Given the description of an element on the screen output the (x, y) to click on. 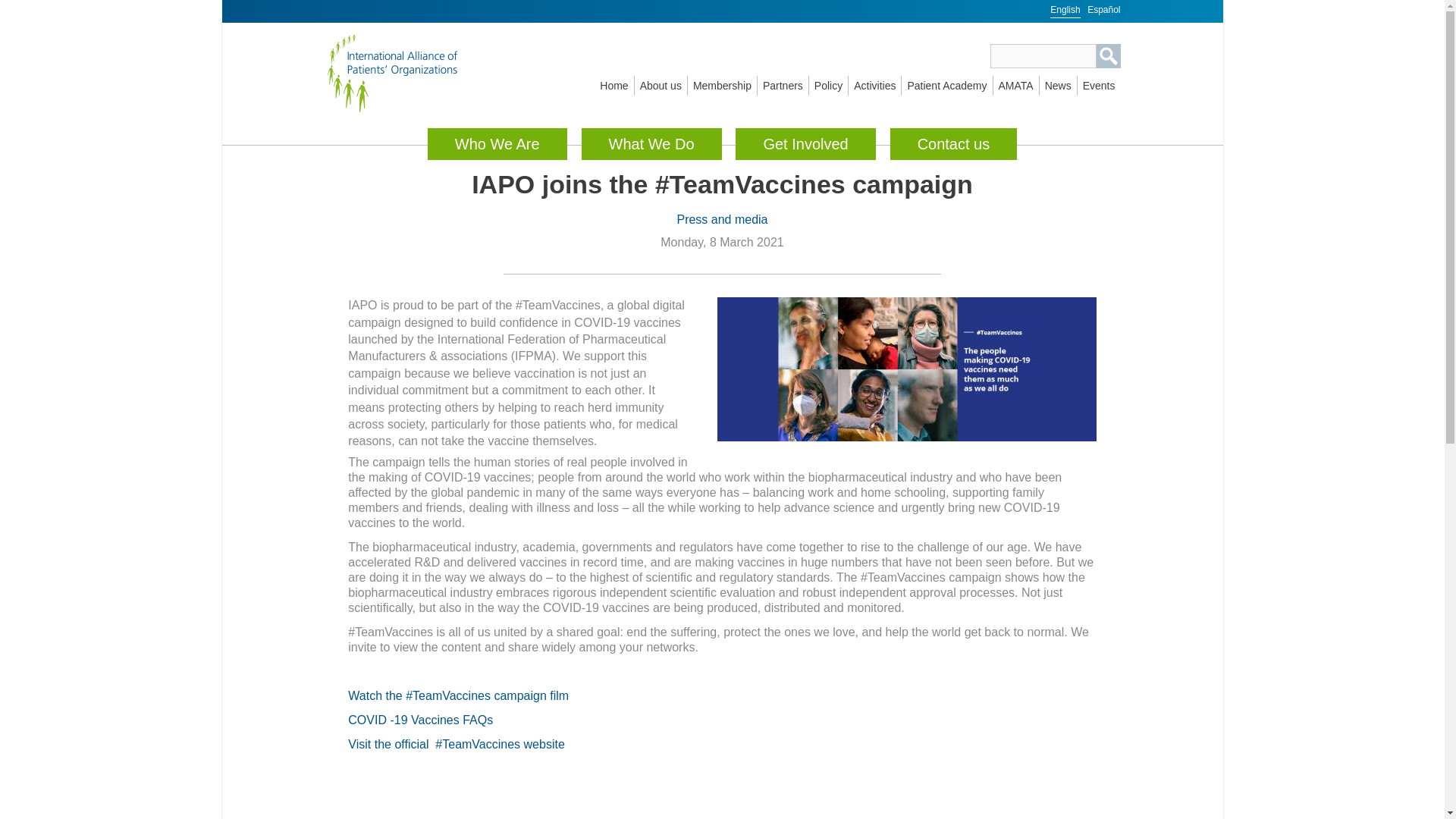
Membership (722, 85)
About us (660, 85)
Policy (828, 85)
Search (1108, 55)
Home (408, 73)
Home (613, 85)
English (1064, 9)
Search (1108, 55)
Enter the terms you wish to search for. (1043, 55)
Partners (782, 85)
Find out about IAPO membership (722, 85)
Activities (874, 85)
